Given the description of an element on the screen output the (x, y) to click on. 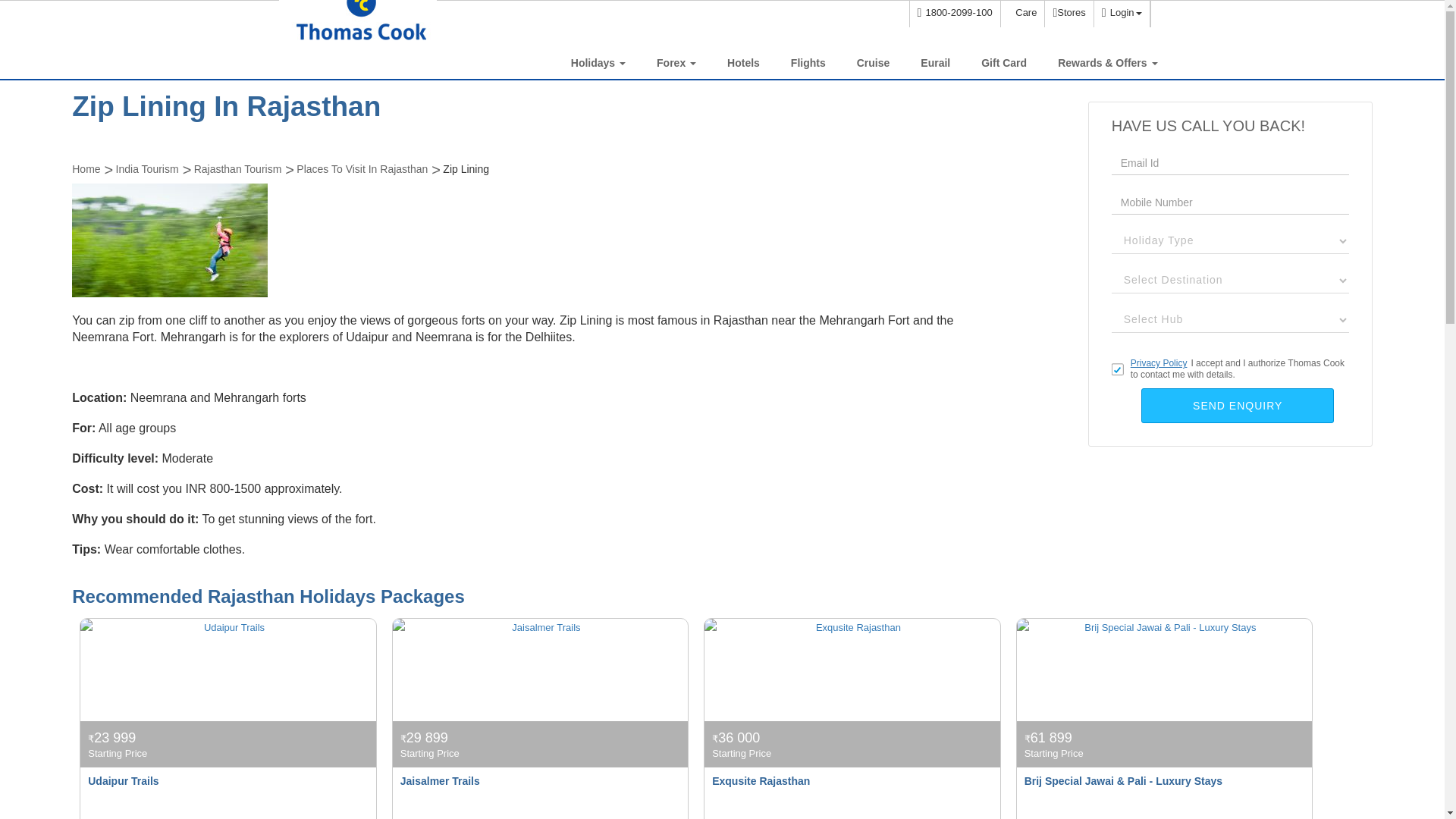
Stores (1068, 13)
Care (1022, 13)
Login (1121, 13)
1800-2099-100 (954, 13)
